Given the description of an element on the screen output the (x, y) to click on. 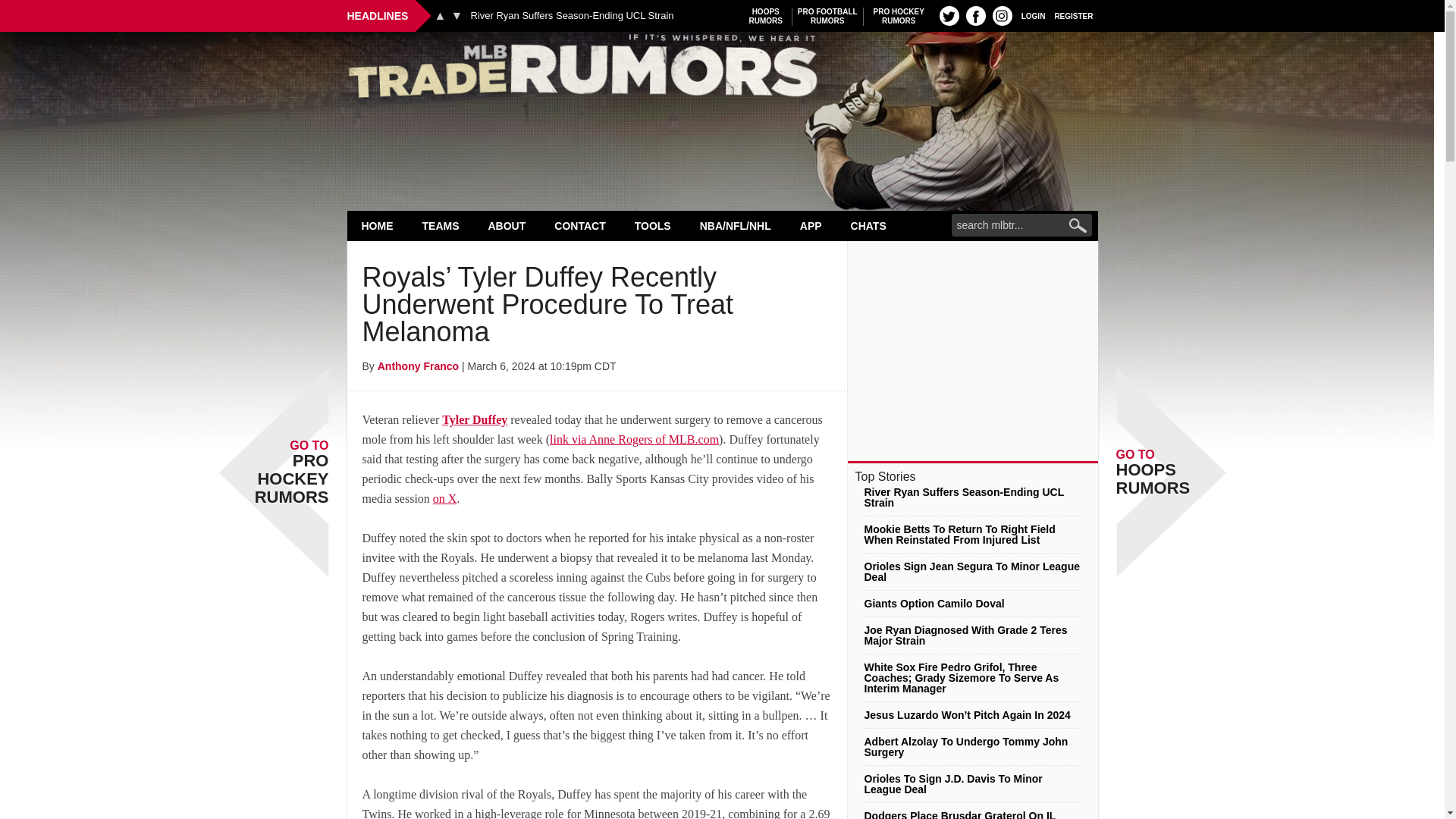
TEAMS (765, 16)
FB profile (440, 225)
Next (975, 15)
River Ryan Suffers Season-Ending UCL Strain (898, 16)
Twitter profile (456, 15)
Search (827, 16)
REGISTER (571, 15)
